Given the description of an element on the screen output the (x, y) to click on. 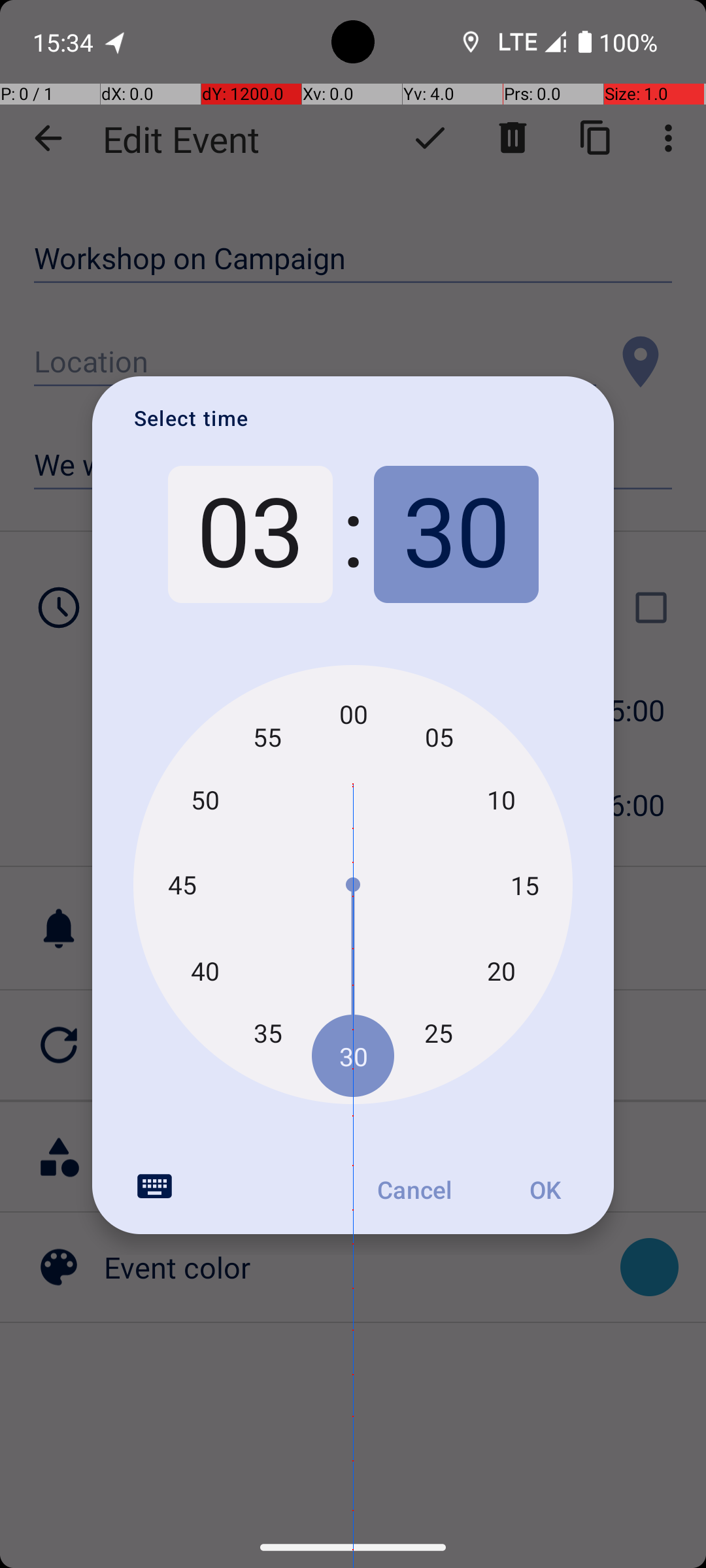
03 Element type: android.view.View (250, 534)
